Given the description of an element on the screen output the (x, y) to click on. 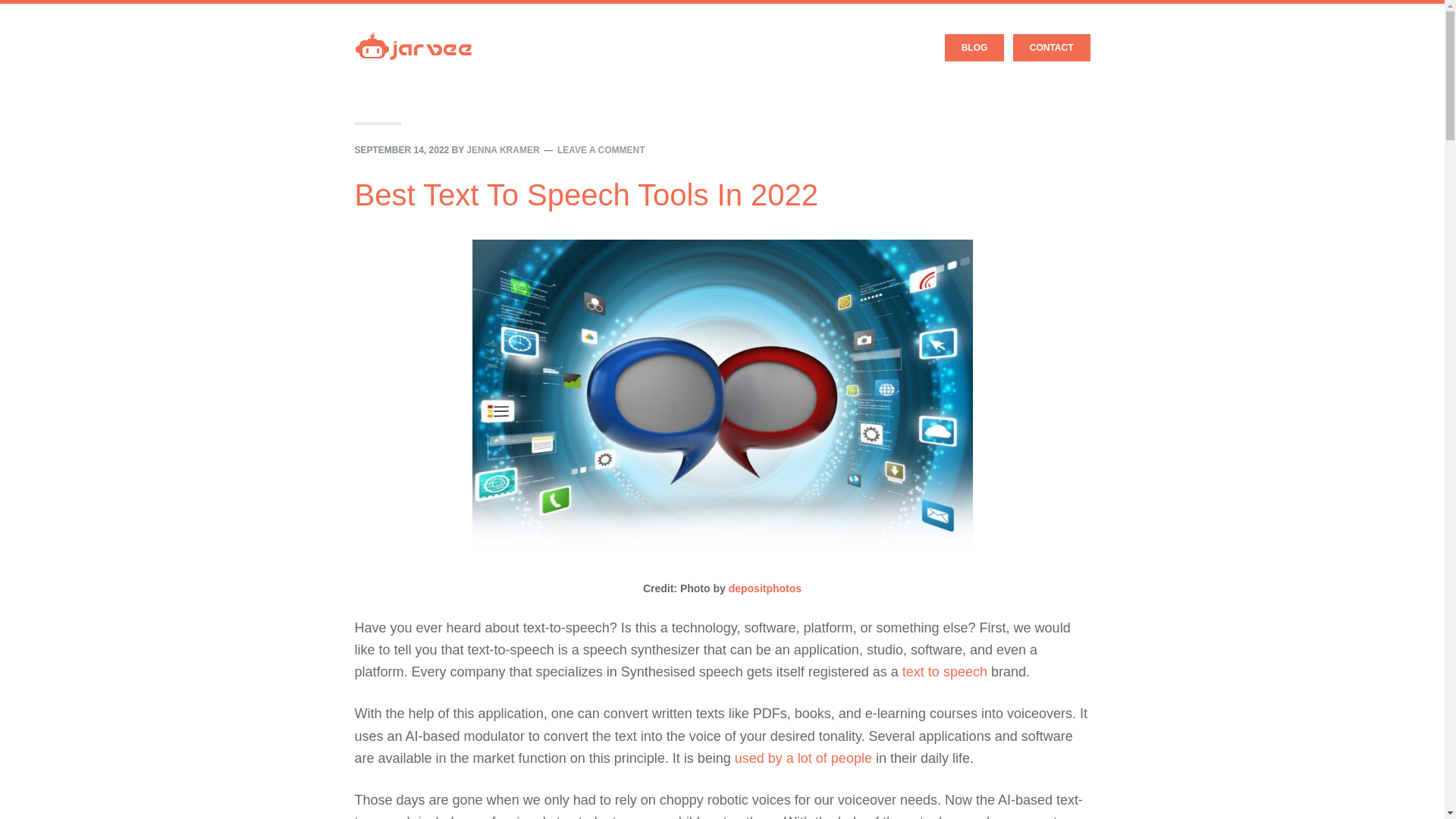
used by a lot of people (803, 758)
depositphotos (765, 588)
text to speech (944, 671)
JARVEE (413, 34)
JENNA KRAMER (501, 149)
CONTACT (1051, 47)
BLOG (974, 47)
LEAVE A COMMENT (601, 149)
